Given the description of an element on the screen output the (x, y) to click on. 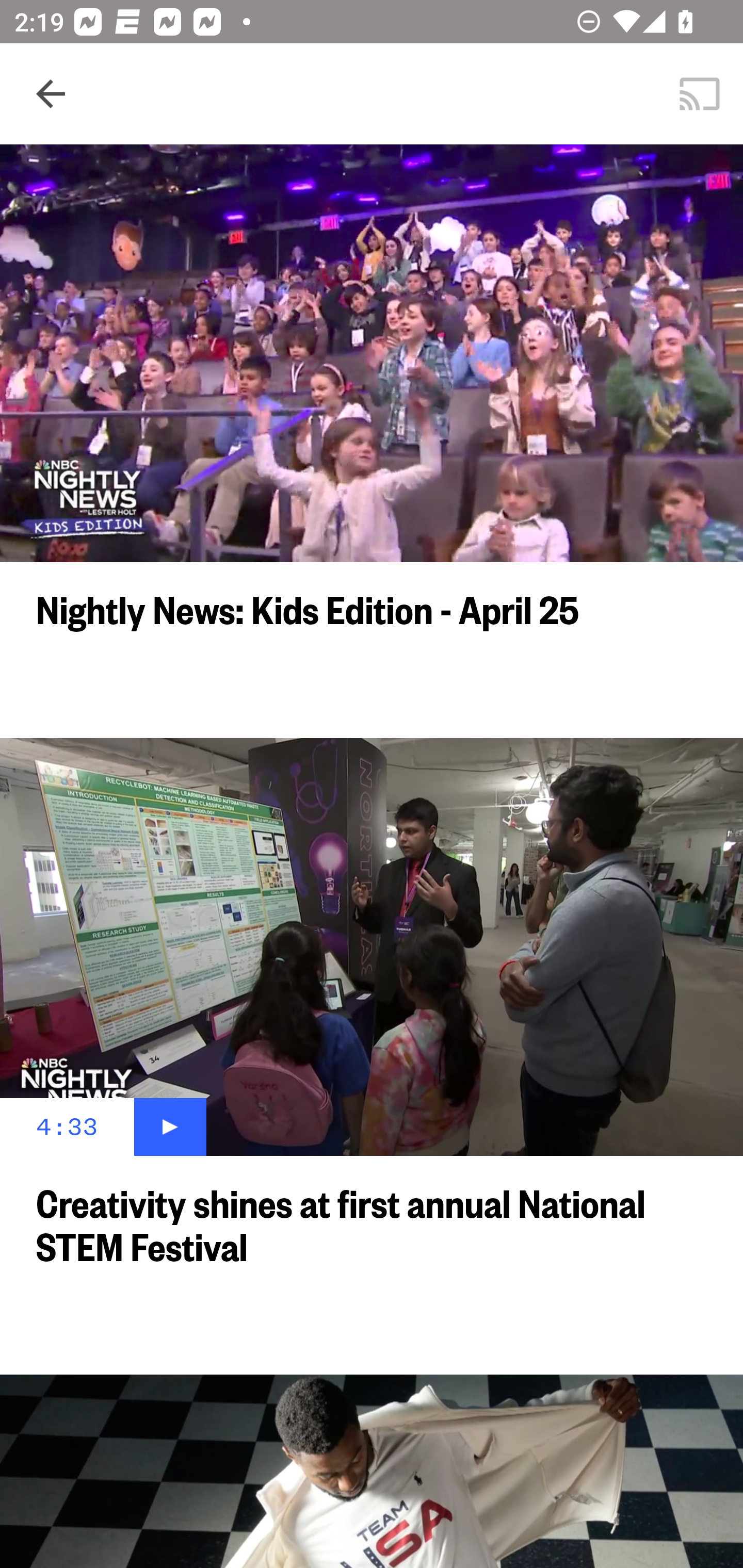
Navigate up (50, 93)
Cast. Disconnected (699, 93)
Video, Nightly News: Kids Edition - April 25 (371, 353)
